Given the description of an element on the screen output the (x, y) to click on. 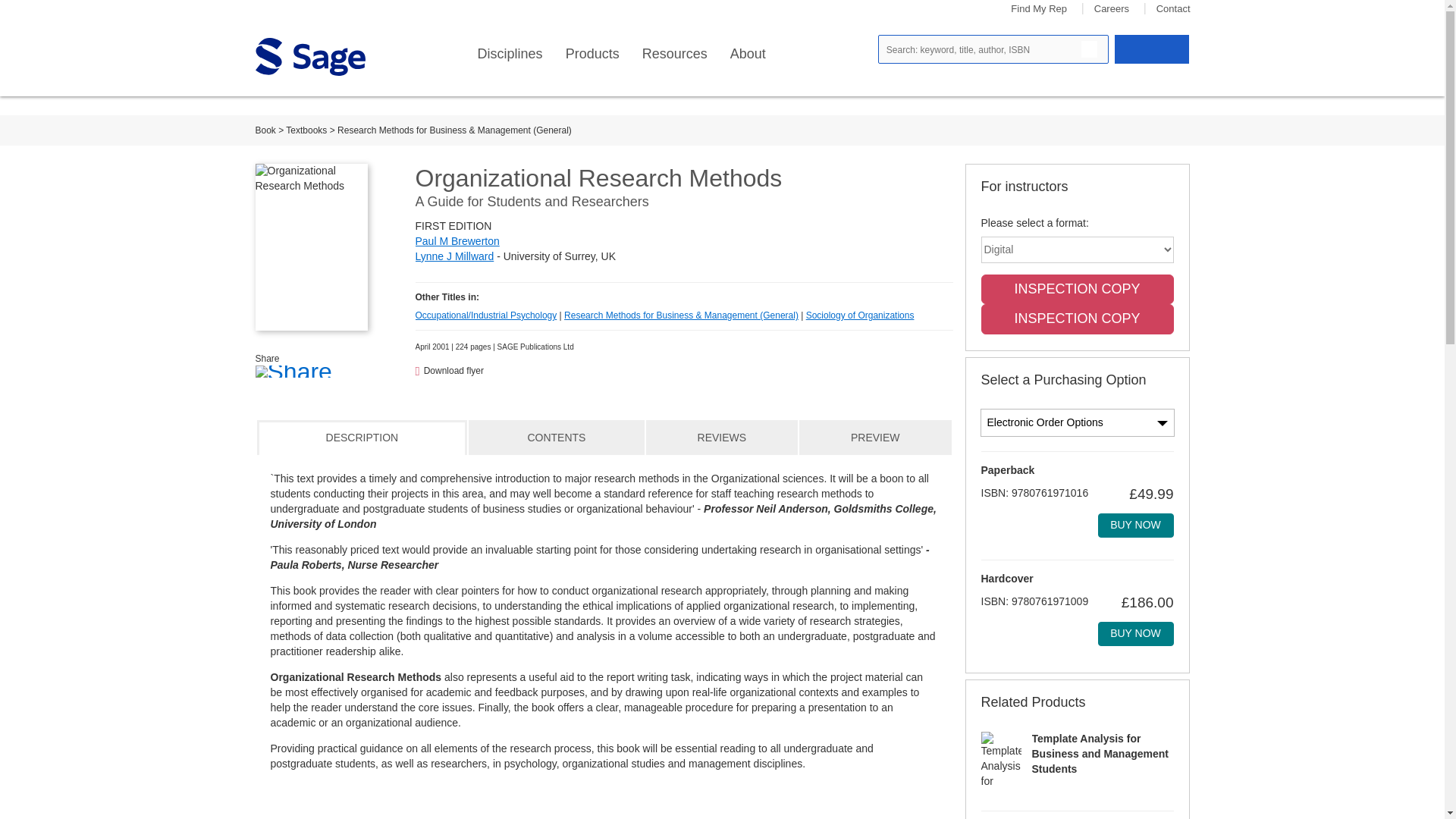
Buy now (1135, 633)
Buy now (1135, 525)
Contact (1173, 8)
Inspection Copy (1077, 318)
Sage logo: link back to homepage (309, 56)
Find My Rep (1038, 8)
Search (1089, 48)
Inspection Copy (1077, 289)
Careers (1111, 8)
Disciplines (509, 53)
